Given the description of an element on the screen output the (x, y) to click on. 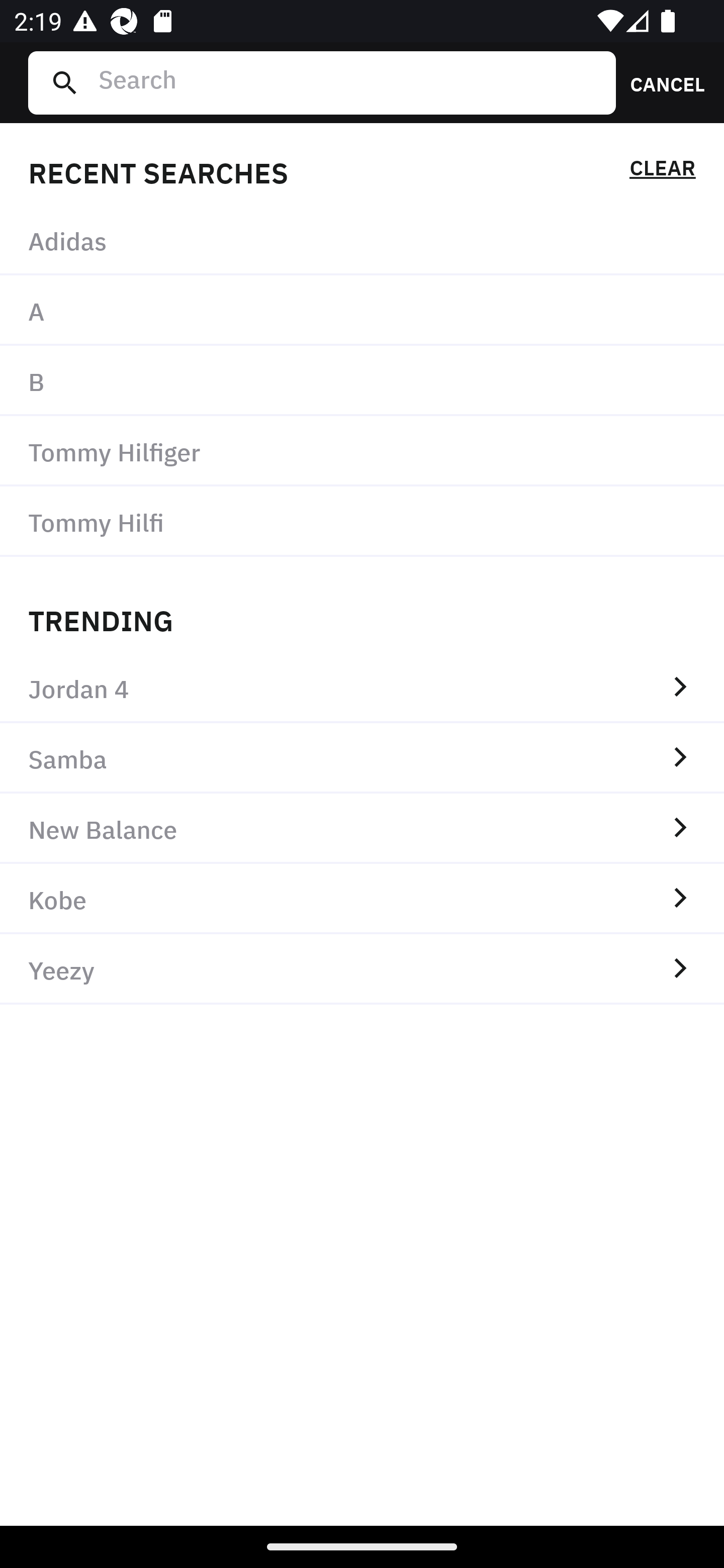
CANCEL (660, 82)
Search (349, 82)
CLEAR (662, 170)
Adidas (362, 240)
A (362, 310)
B (362, 380)
Tommy Hilfiger (362, 450)
Tommy Hilfi (362, 521)
Jordan 4  (362, 687)
Samba  (362, 757)
New Balance  (362, 828)
Kobe  (362, 898)
Yeezy  (362, 969)
